Given the description of an element on the screen output the (x, y) to click on. 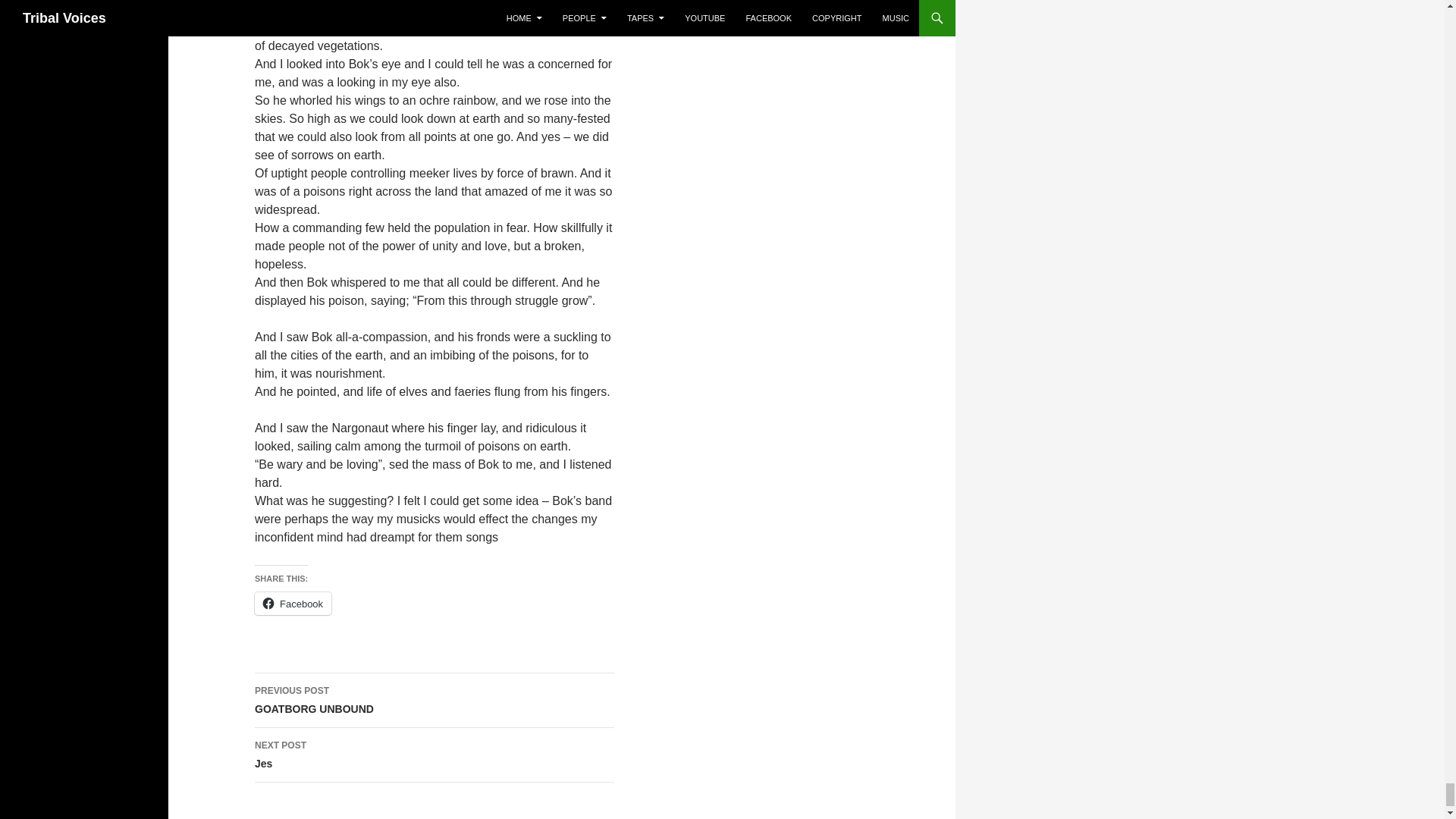
Click to share on Facebook (292, 603)
Facebook (434, 755)
